Given the description of an element on the screen output the (x, y) to click on. 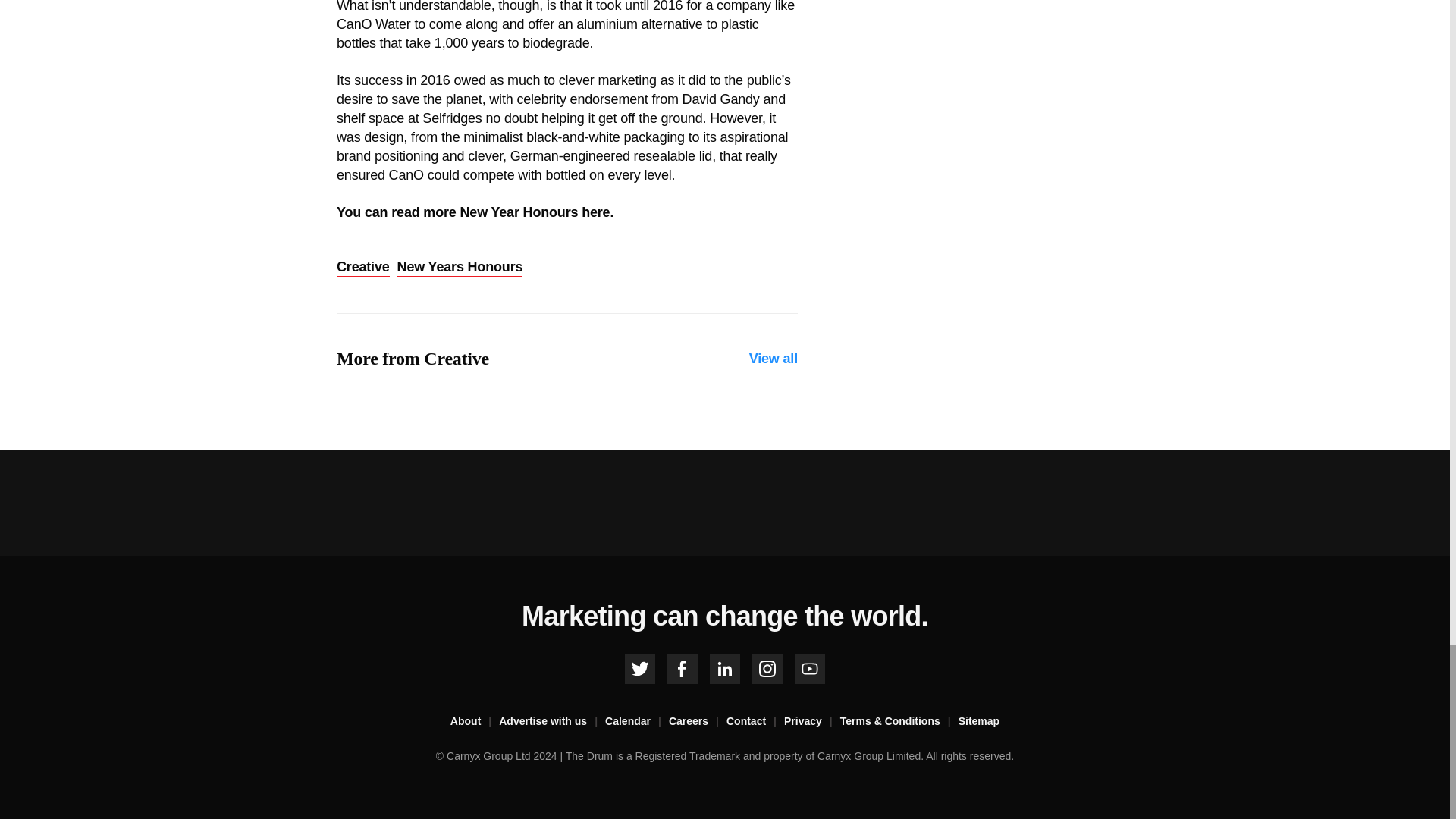
About (474, 721)
New Years Honours (459, 267)
Creative (363, 267)
Advertise with us (552, 721)
here (595, 212)
View all (773, 358)
